Given the description of an element on the screen output the (x, y) to click on. 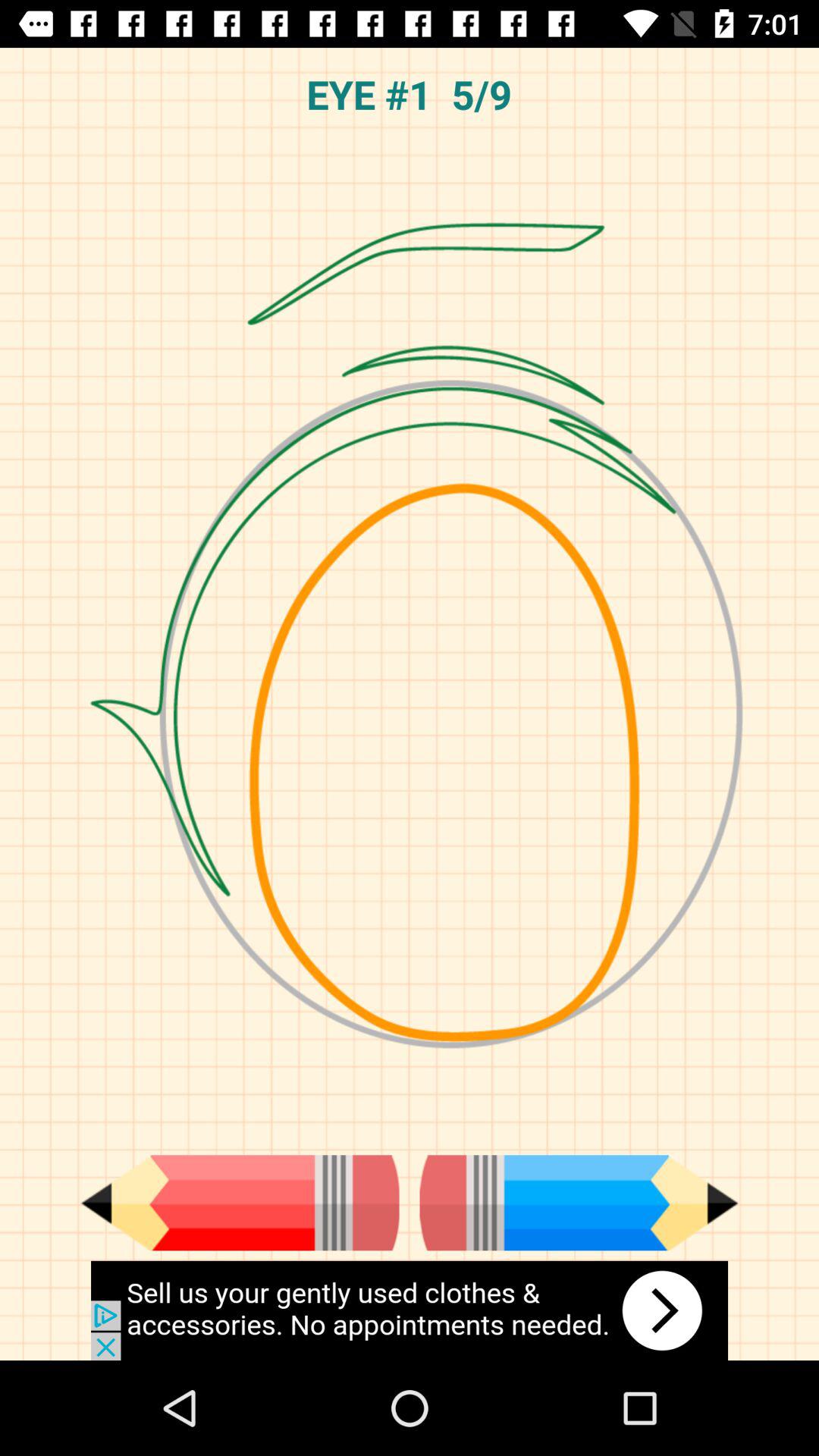
click advertisements (409, 1310)
